Given the description of an element on the screen output the (x, y) to click on. 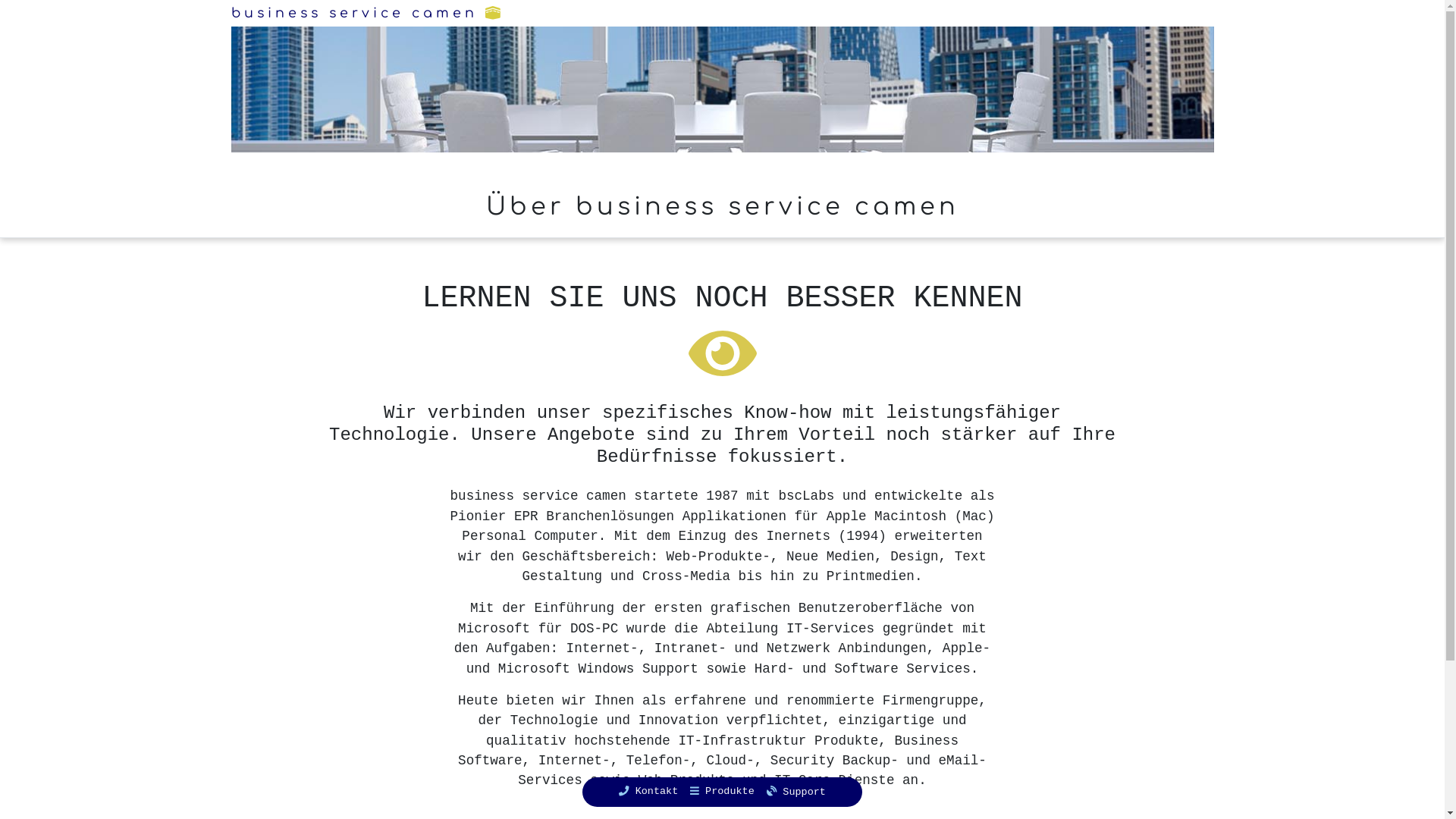
Support Element type: text (795, 791)
Produkte Element type: text (722, 791)
Kontakt Element type: text (647, 791)
